Given the description of an element on the screen output the (x, y) to click on. 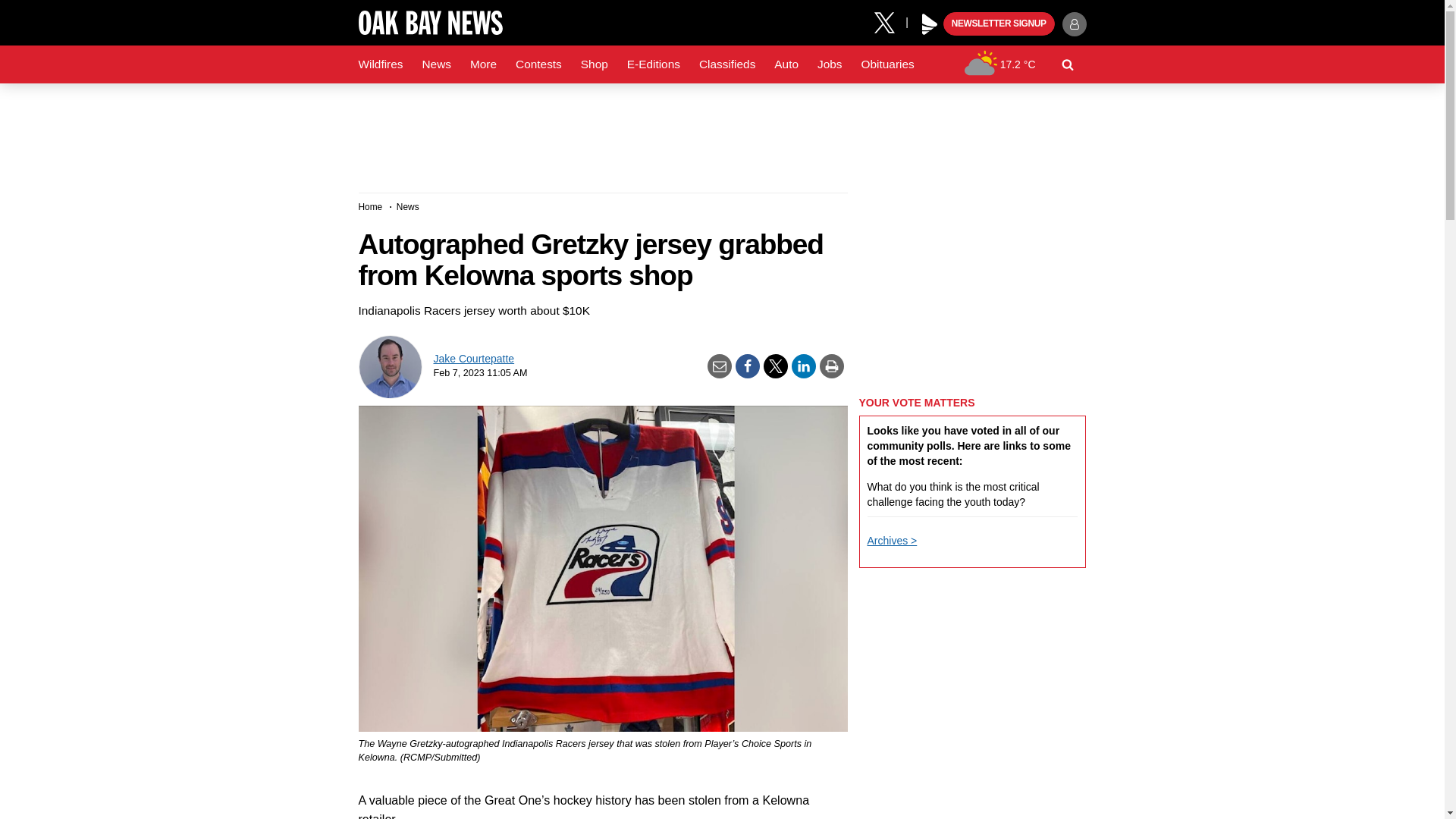
X (889, 21)
News (435, 64)
Black Press Media (929, 24)
Play (929, 24)
Wildfires (380, 64)
NEWSLETTER SIGNUP (998, 24)
